Given the description of an element on the screen output the (x, y) to click on. 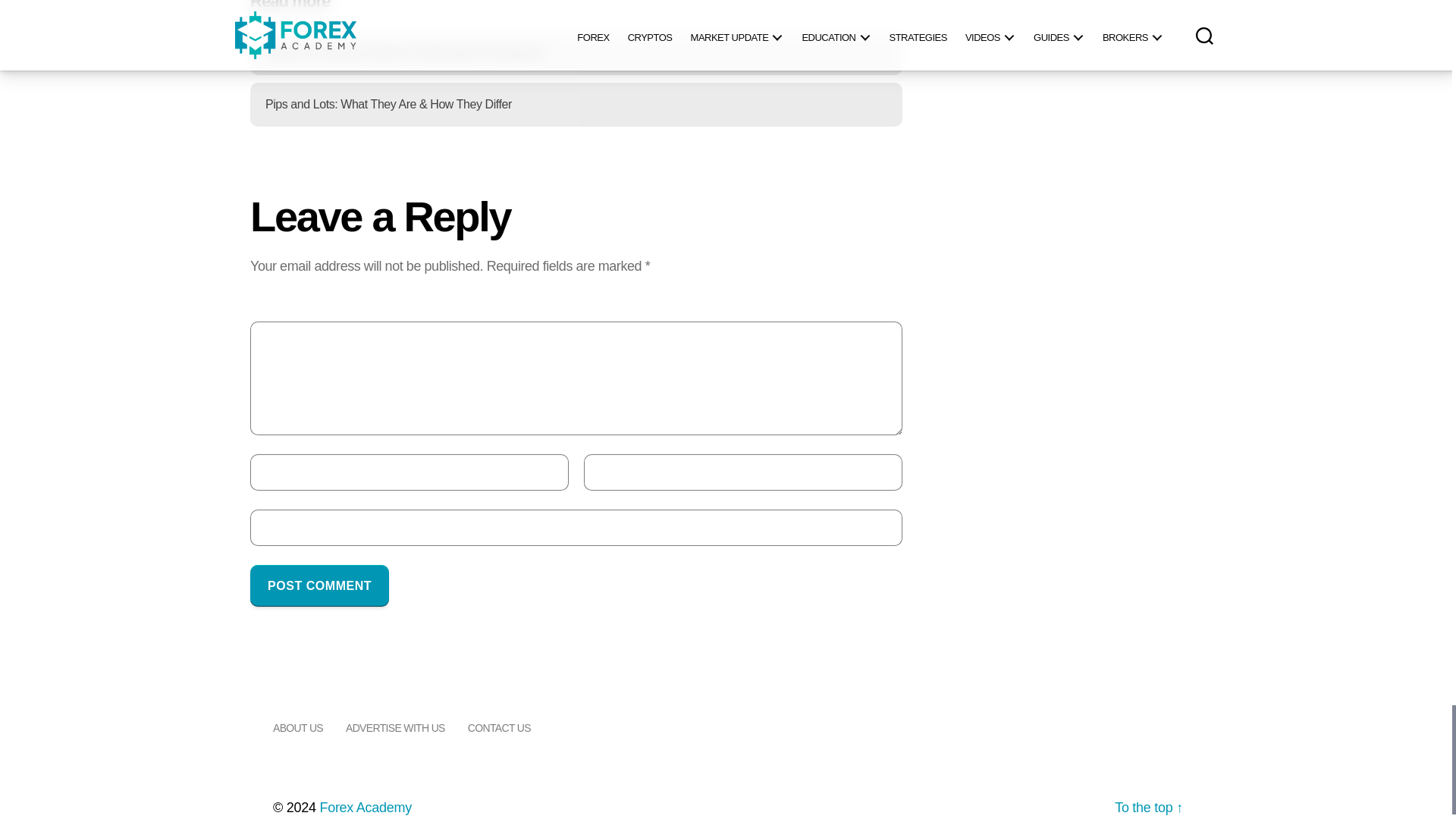
Post Comment (319, 585)
